Given the description of an element on the screen output the (x, y) to click on. 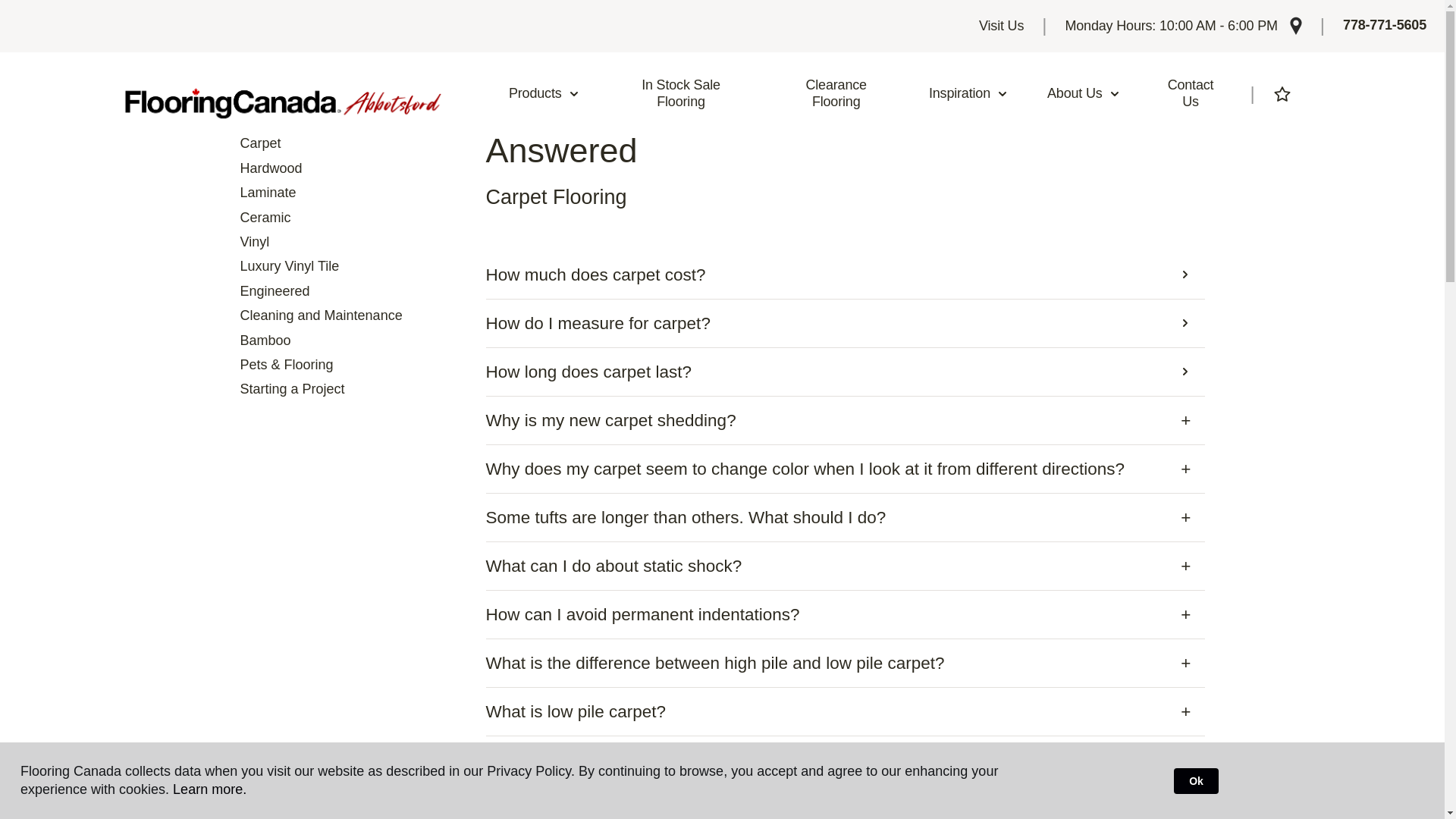
Clearance Flooring (835, 93)
778-771-5605 (1384, 25)
Products (544, 94)
Inspiration (968, 94)
About Us (1083, 94)
Contact Us (1190, 93)
In Stock Sale Flooring (681, 93)
Visit Us (1000, 26)
